Given the description of an element on the screen output the (x, y) to click on. 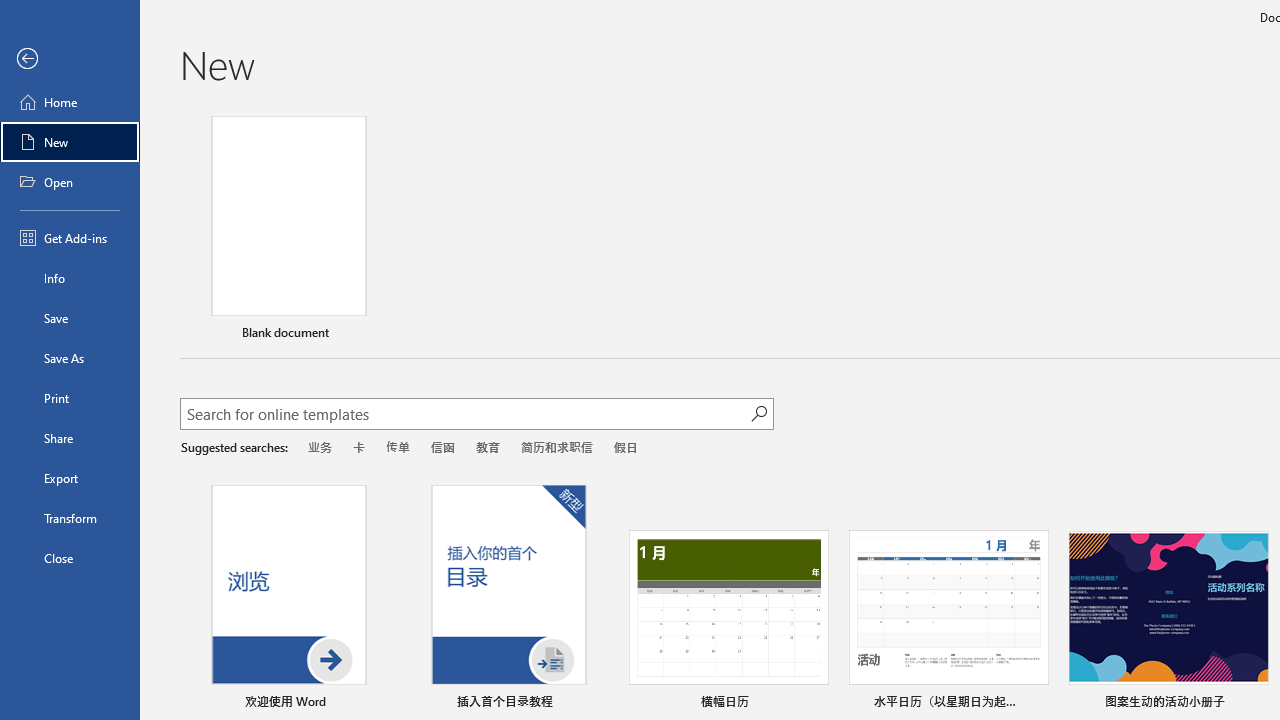
Save (69, 317)
Back (69, 59)
Start searching (758, 413)
Print (69, 398)
Home (69, 101)
Get Add-ins (69, 237)
